Given the description of an element on the screen output the (x, y) to click on. 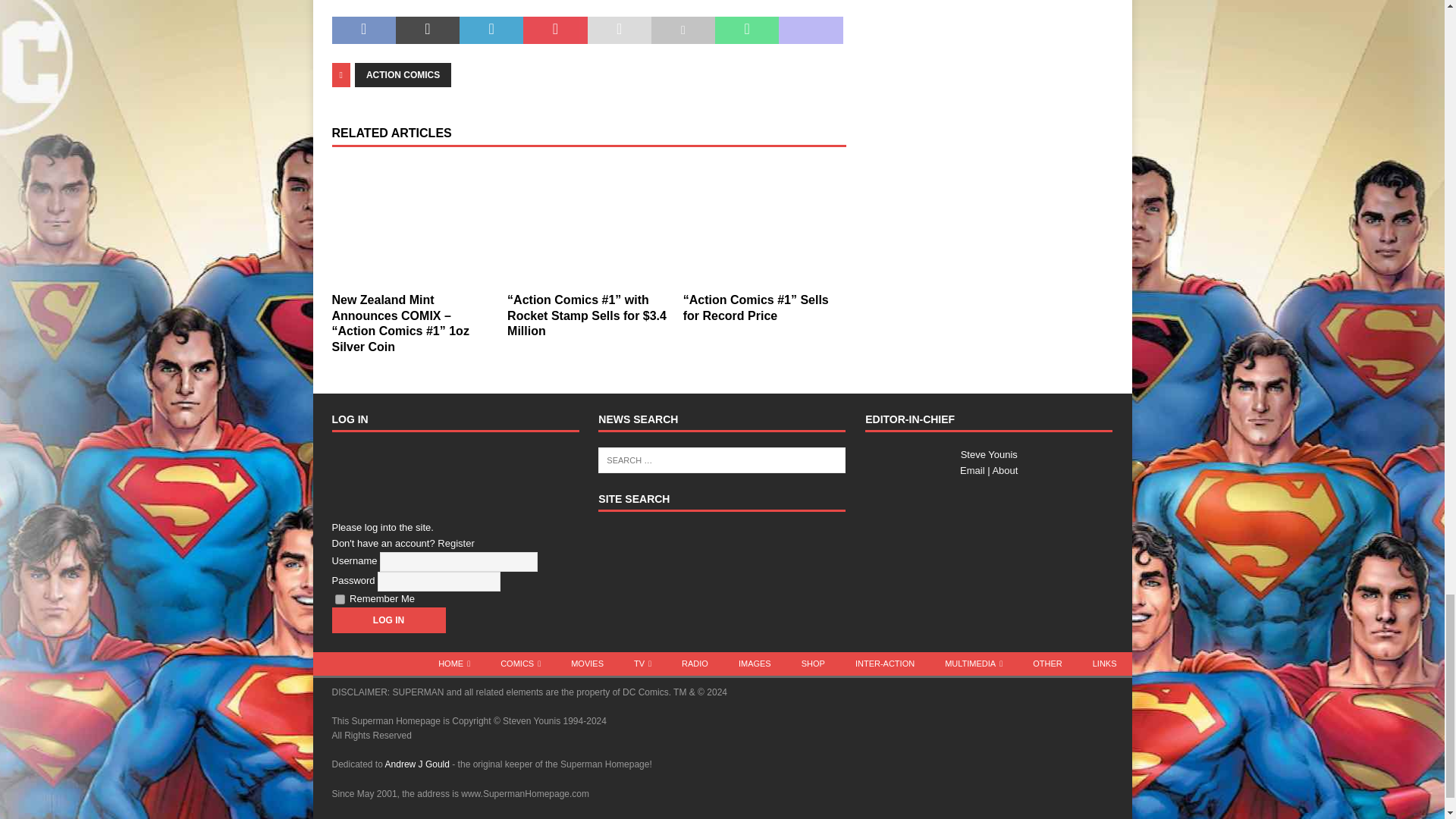
Share on LinkedIn (491, 30)
forever (339, 599)
Tweet This Post (428, 30)
Pin This Post (554, 30)
Share on Facebook (363, 30)
Log In (388, 620)
Print this article (682, 30)
Send this article to a friend (619, 30)
Share On Mastodon (810, 30)
Share on Whatsapp (746, 30)
